Given the description of an element on the screen output the (x, y) to click on. 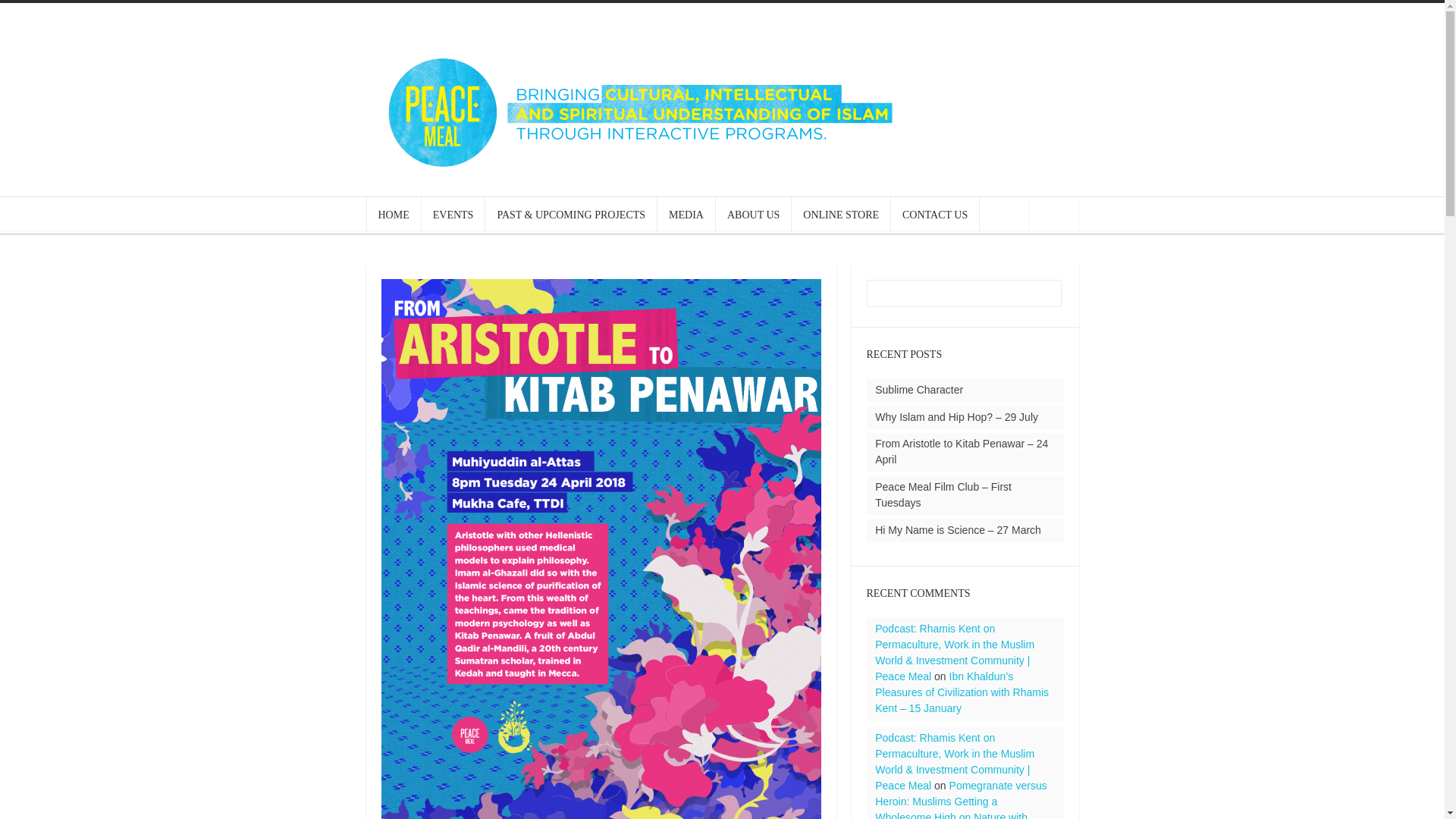
CONTACT US (934, 213)
EVENTS (453, 213)
ONLINE STORE (840, 213)
ABOUT US (753, 213)
MEDIA (686, 213)
Sublime Character (918, 389)
HOME (393, 213)
